Given the description of an element on the screen output the (x, y) to click on. 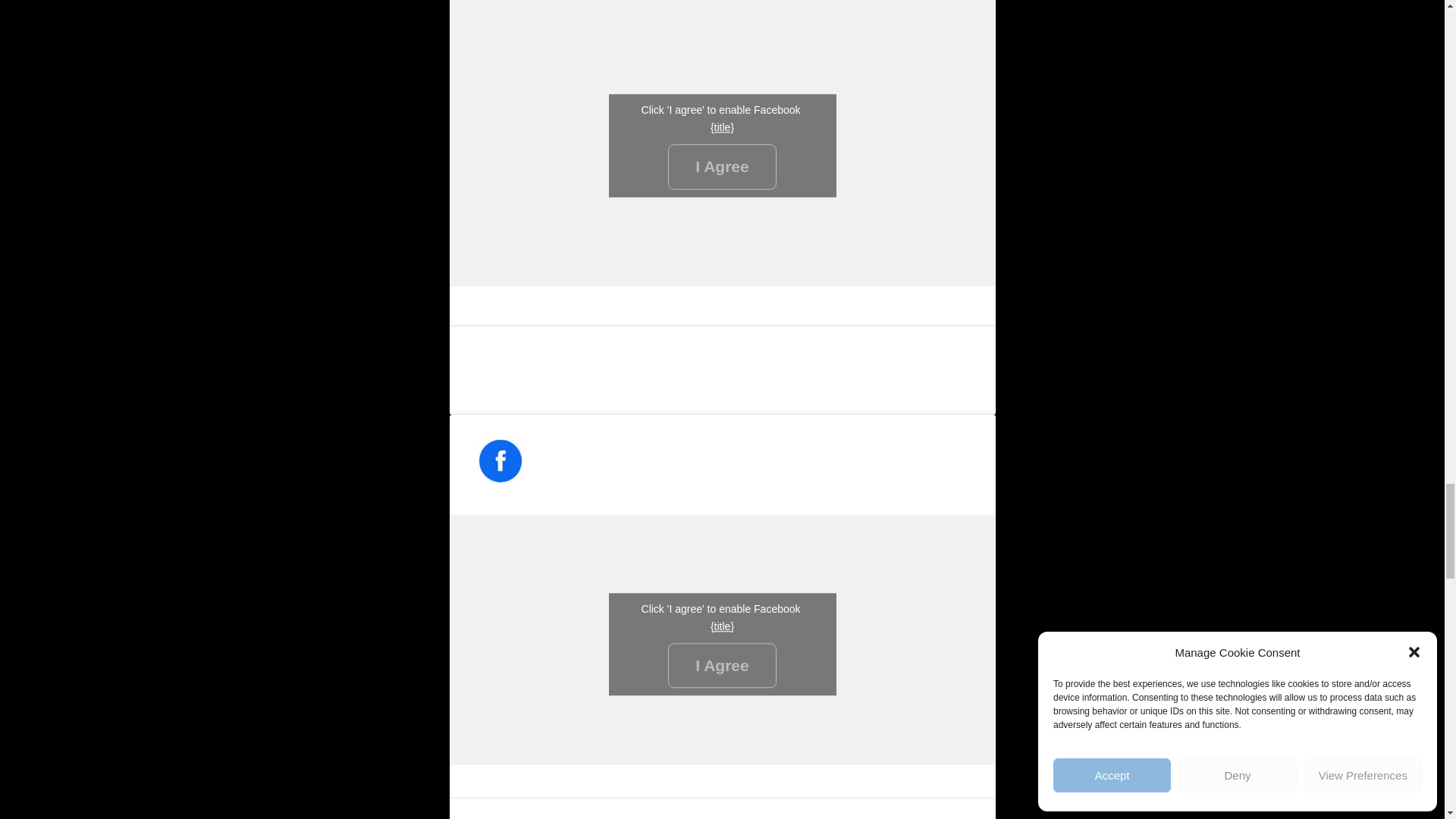
I Agree (722, 665)
I Agree (722, 166)
